Given the description of an element on the screen output the (x, y) to click on. 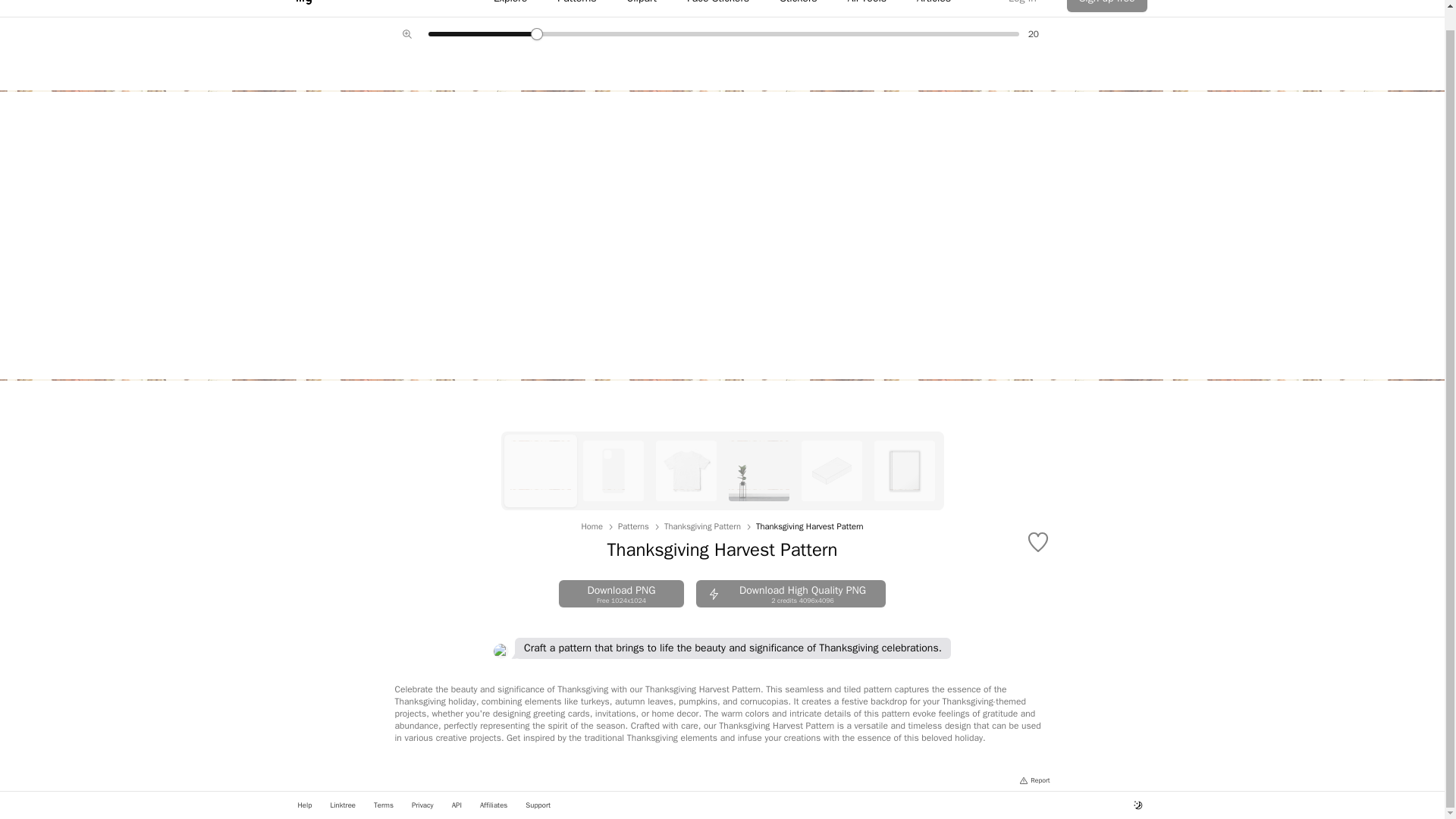
Face Stickers (718, 6)
Patterns (576, 6)
Report (1034, 780)
Patterns (633, 526)
Sign up free (1107, 6)
Log in (1021, 6)
Home (591, 526)
Toggle Dark Mode (1137, 805)
Stickers (790, 593)
